Given the description of an element on the screen output the (x, y) to click on. 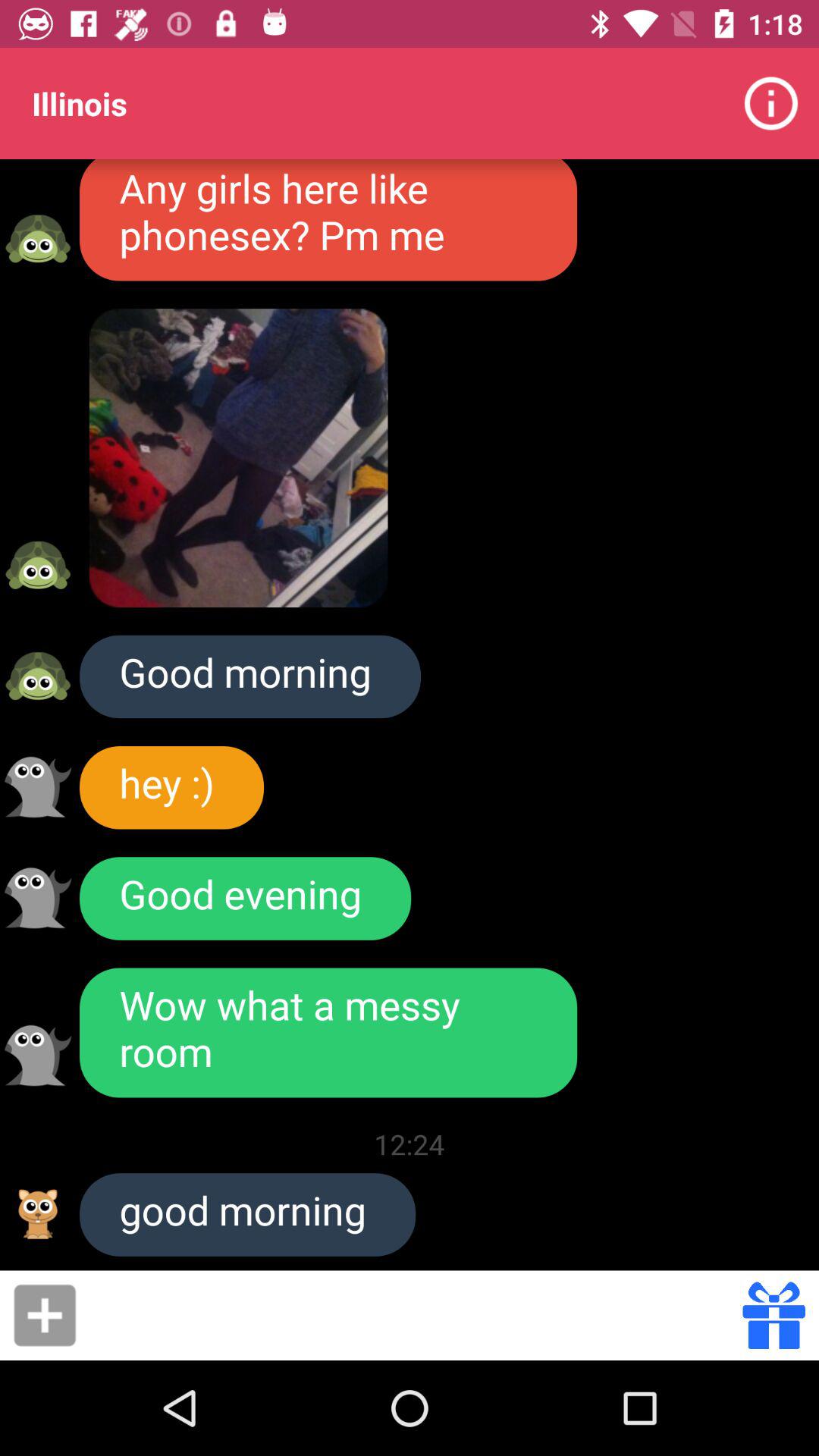
choose icon above the good evening (171, 787)
